Given the description of an element on the screen output the (x, y) to click on. 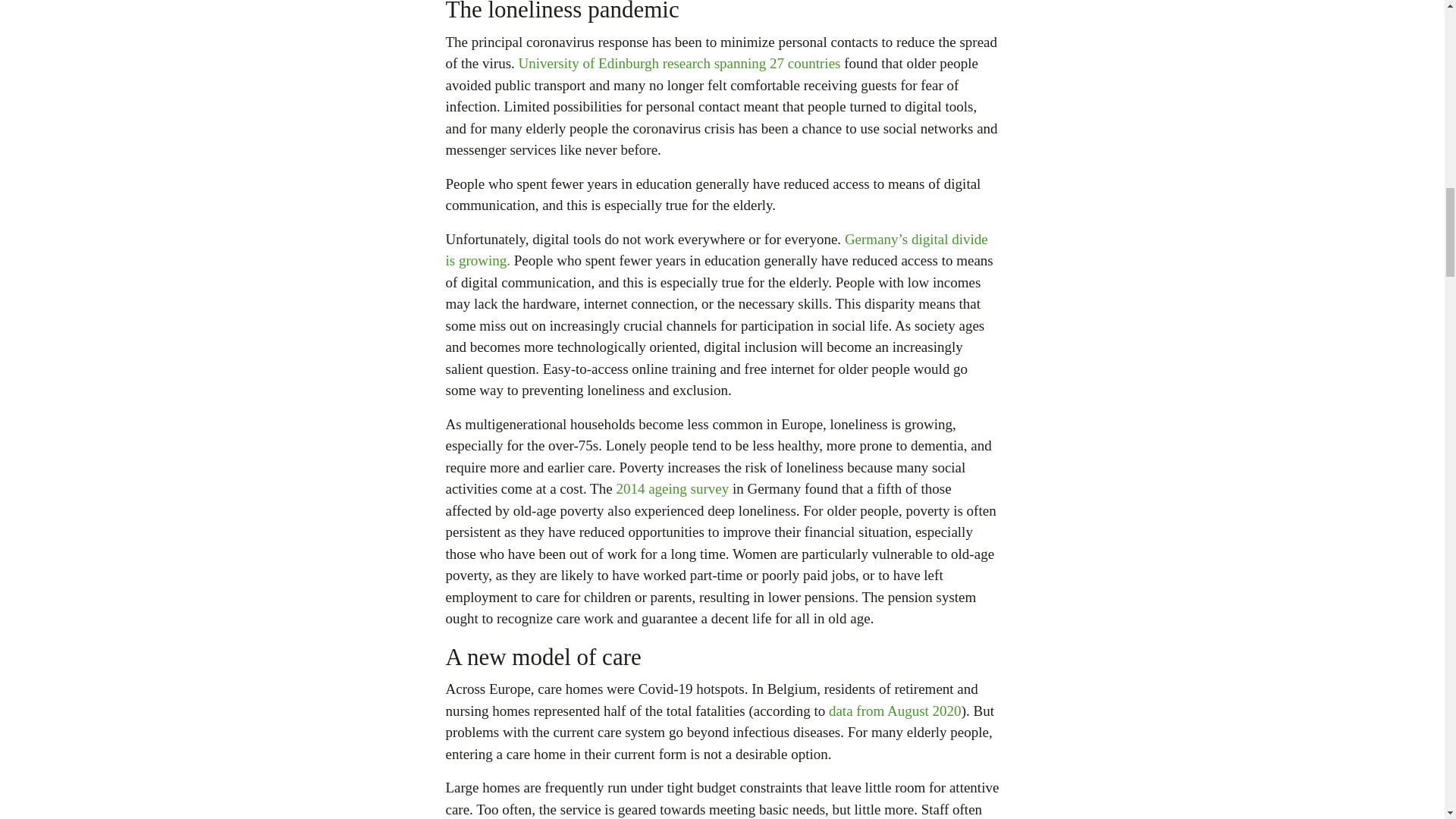
University of Edinburgh research spanning 27 countries (679, 63)
